Given the description of an element on the screen output the (x, y) to click on. 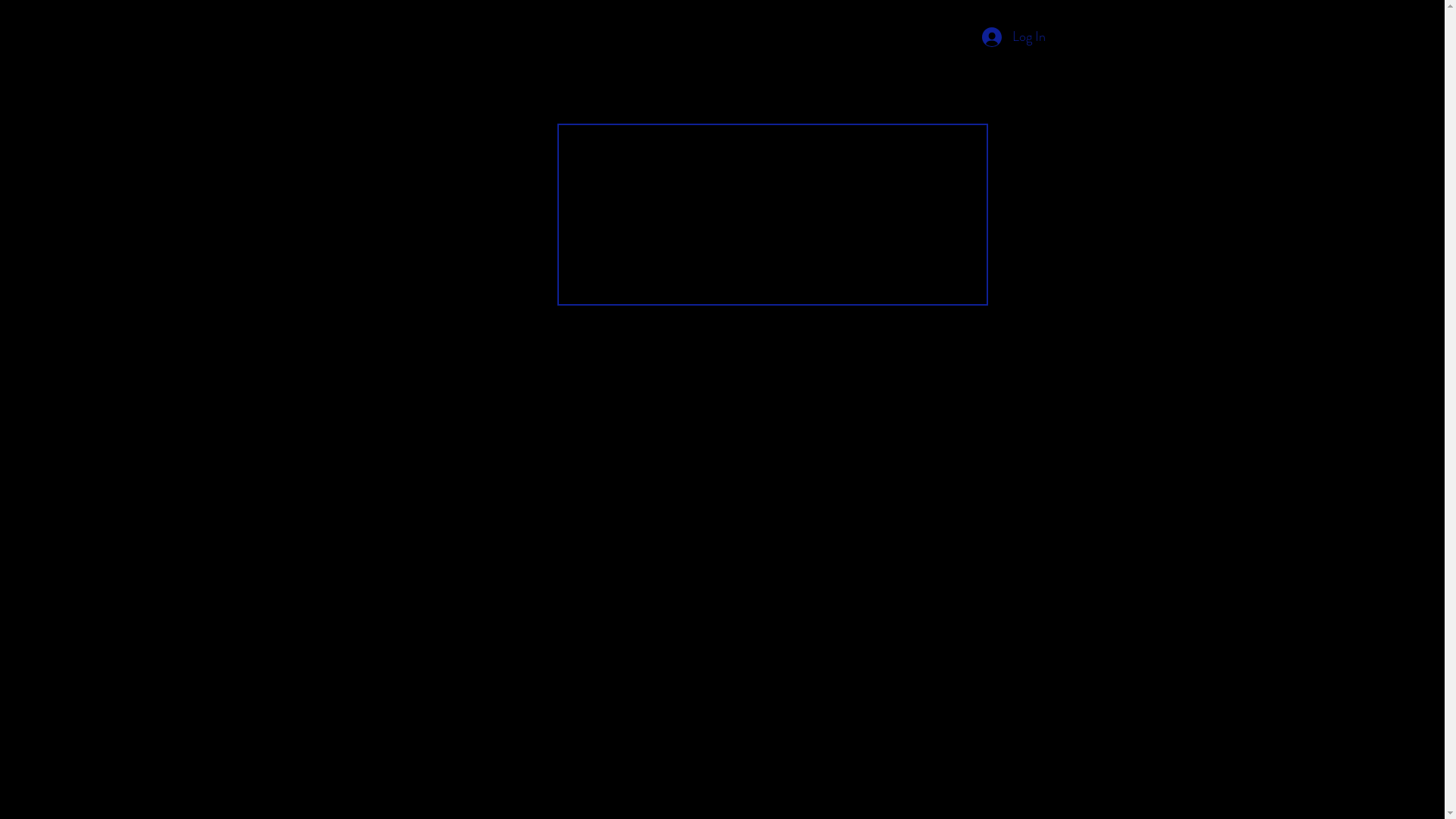
Log In Element type: text (1012, 36)
